Given the description of an element on the screen output the (x, y) to click on. 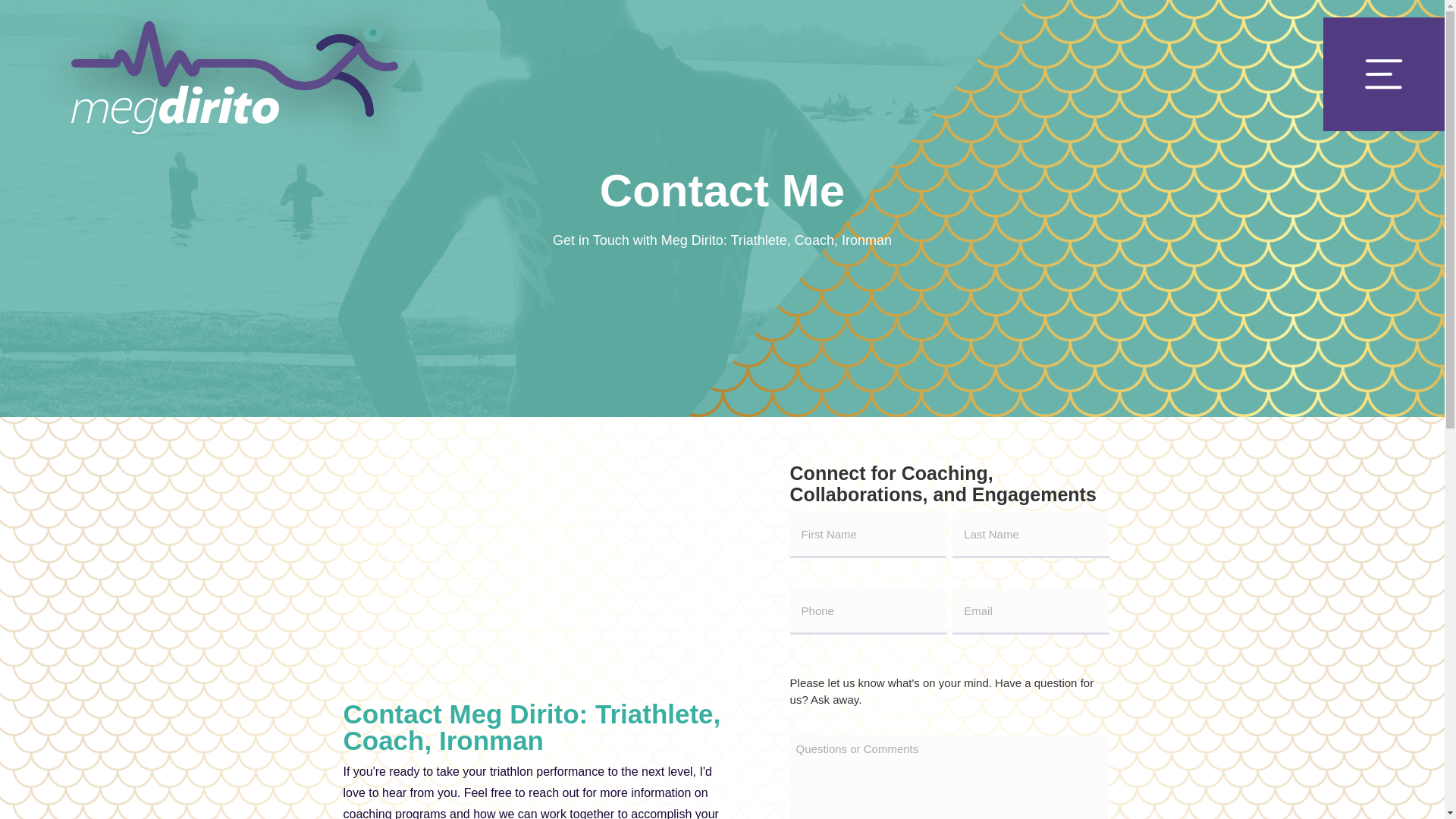
MEGD (234, 92)
